Given the description of an element on the screen output the (x, y) to click on. 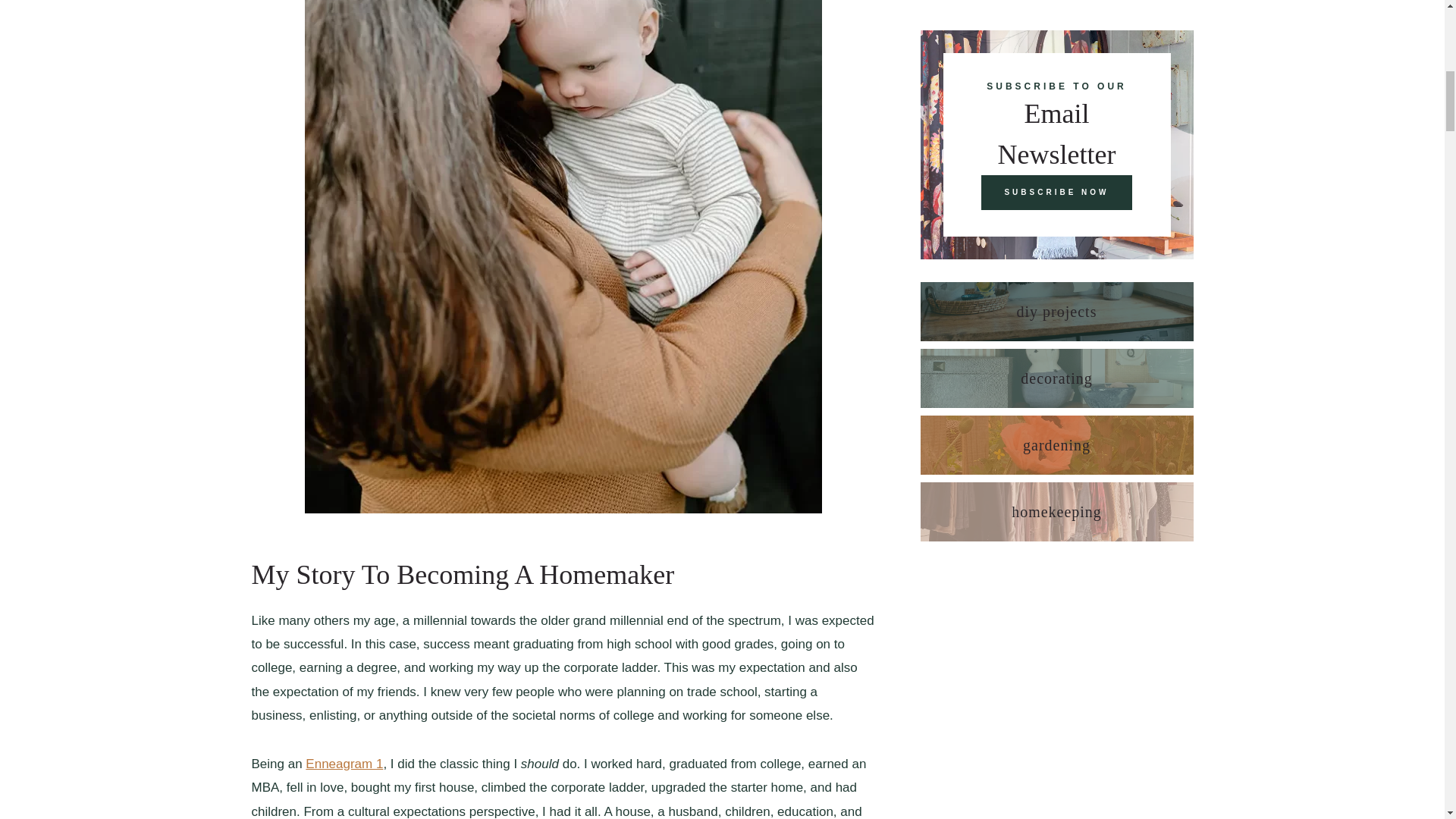
Enneagram 1 (343, 763)
